Given the description of an element on the screen output the (x, y) to click on. 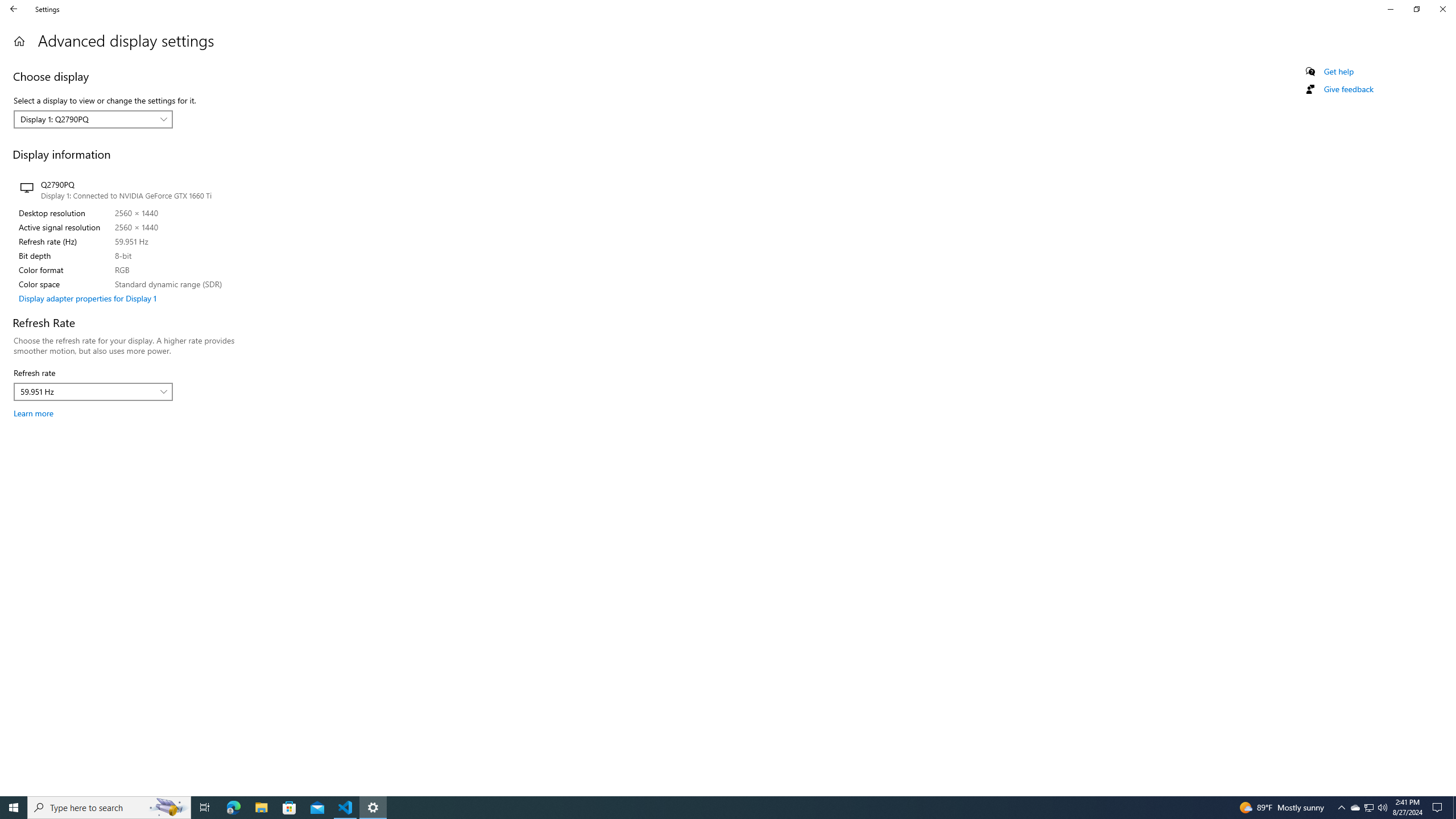
59.951 Hz (87, 391)
Refresh rate (93, 391)
Q2790: 100% (1355, 807)
Task View (1382, 807)
User Promoted Notification Area (204, 807)
Notification Chevron (1368, 807)
Display 1: Q2790PQ (1341, 807)
Minimize Settings (87, 118)
Back (1390, 9)
Home (13, 9)
Search highlights icon opens search home window (19, 40)
Learn more (167, 807)
Settings - 1 running window (33, 412)
